Given the description of an element on the screen output the (x, y) to click on. 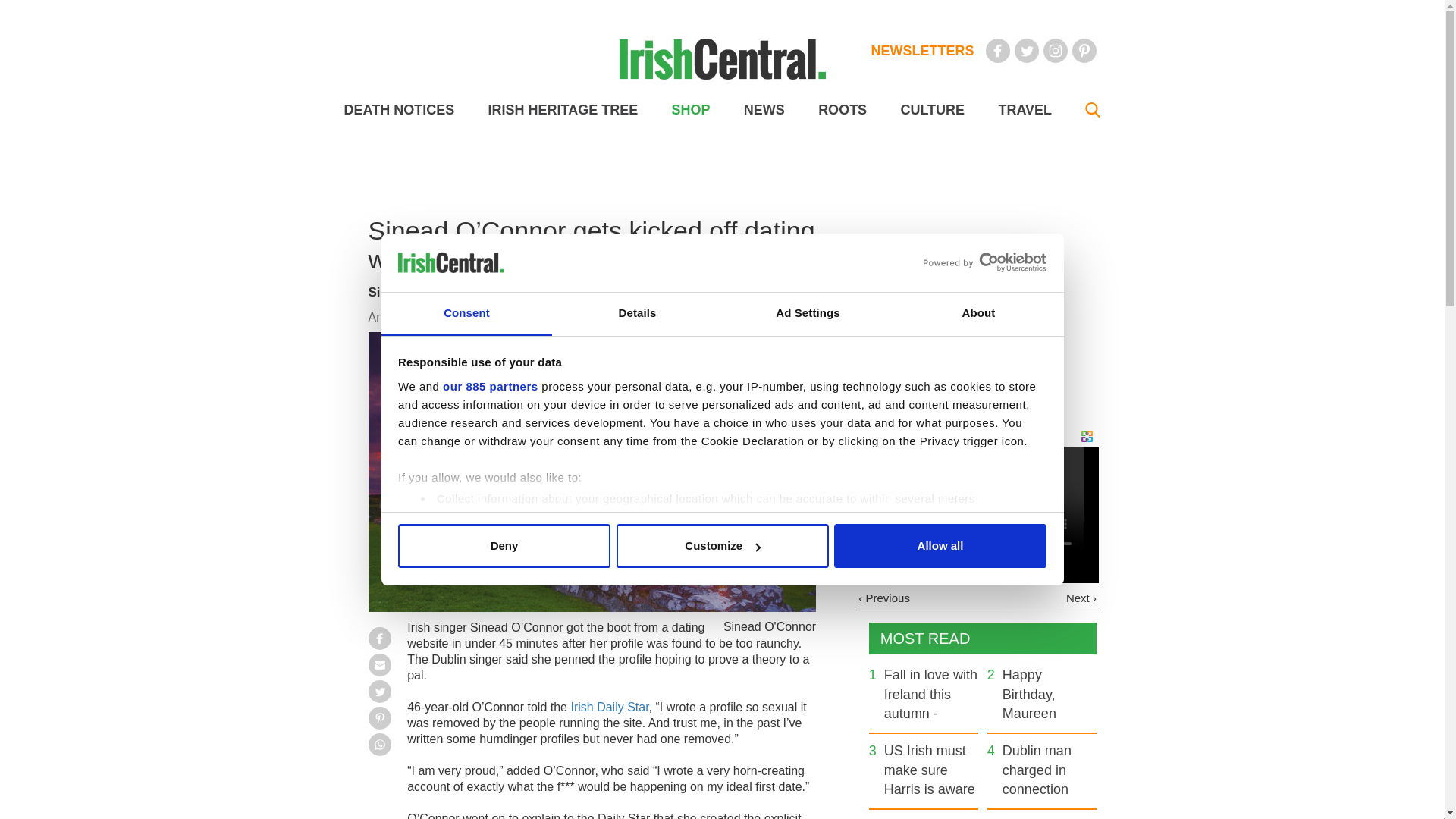
Ad Settings (807, 313)
About (978, 313)
details section (927, 536)
Consent (465, 313)
Details (636, 313)
our 885 partners (490, 386)
